Given the description of an element on the screen output the (x, y) to click on. 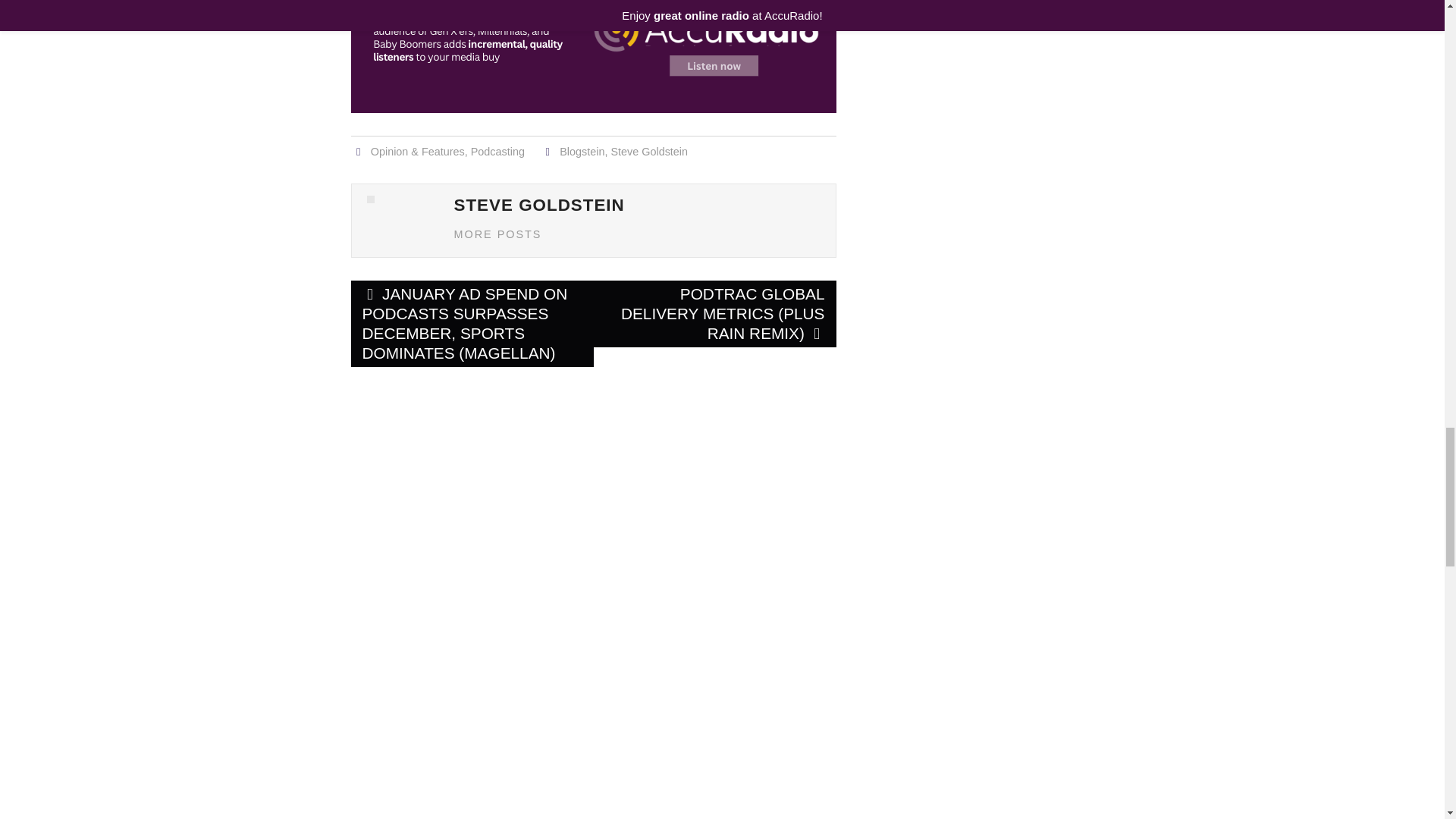
Steve Goldstein (648, 151)
MORE POSTS (496, 234)
Blogstein (581, 151)
Podcasting (497, 151)
Manoush Zomorodi: S1 Ep9 (979, 104)
